Given the description of an element on the screen output the (x, y) to click on. 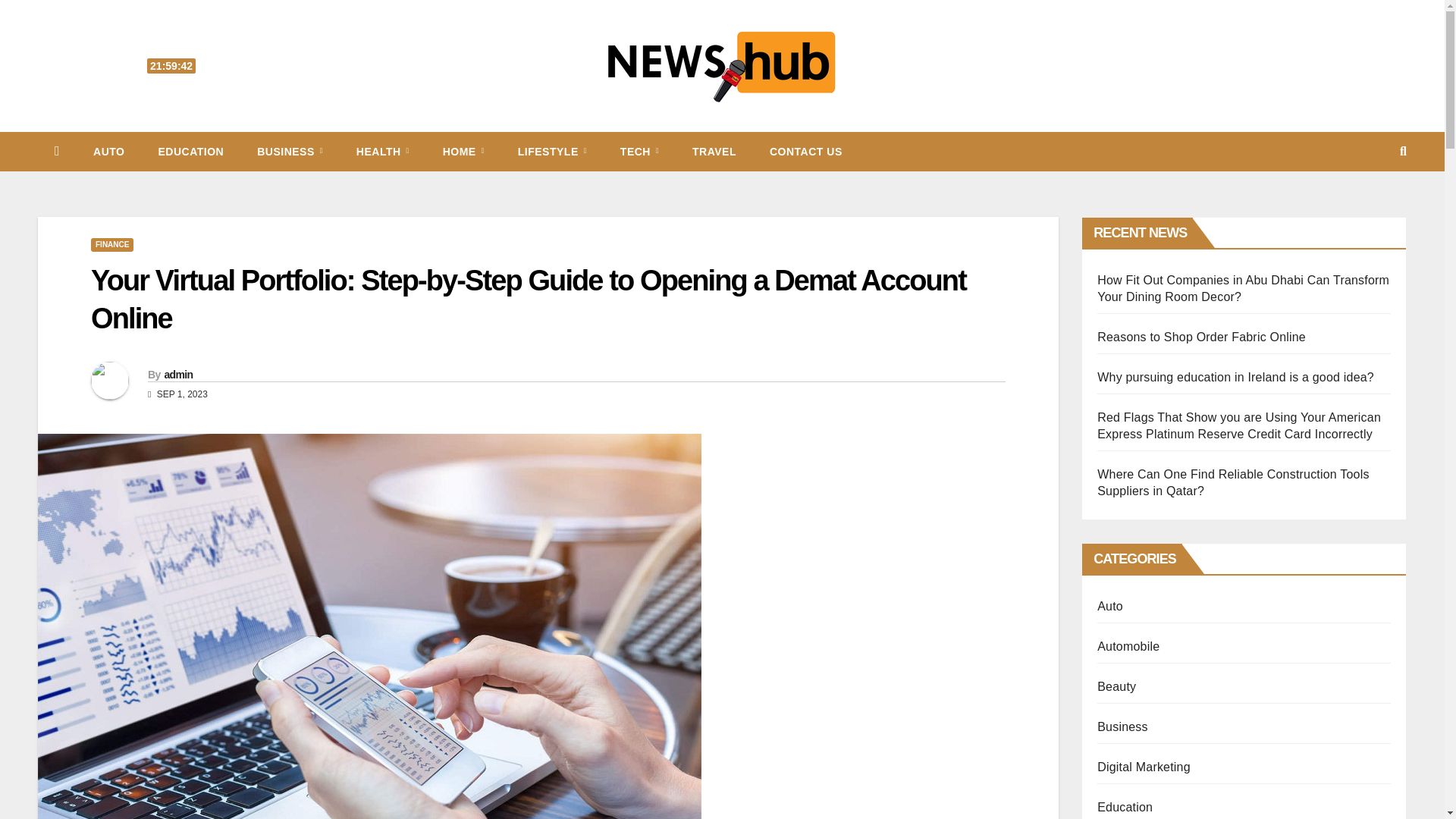
EDUCATION (190, 151)
TRAVEL (713, 151)
TECH (639, 151)
Business (289, 151)
Home (463, 151)
admin (177, 374)
FINANCE (111, 244)
AUTO (109, 151)
Lifestyle (552, 151)
